Given the description of an element on the screen output the (x, y) to click on. 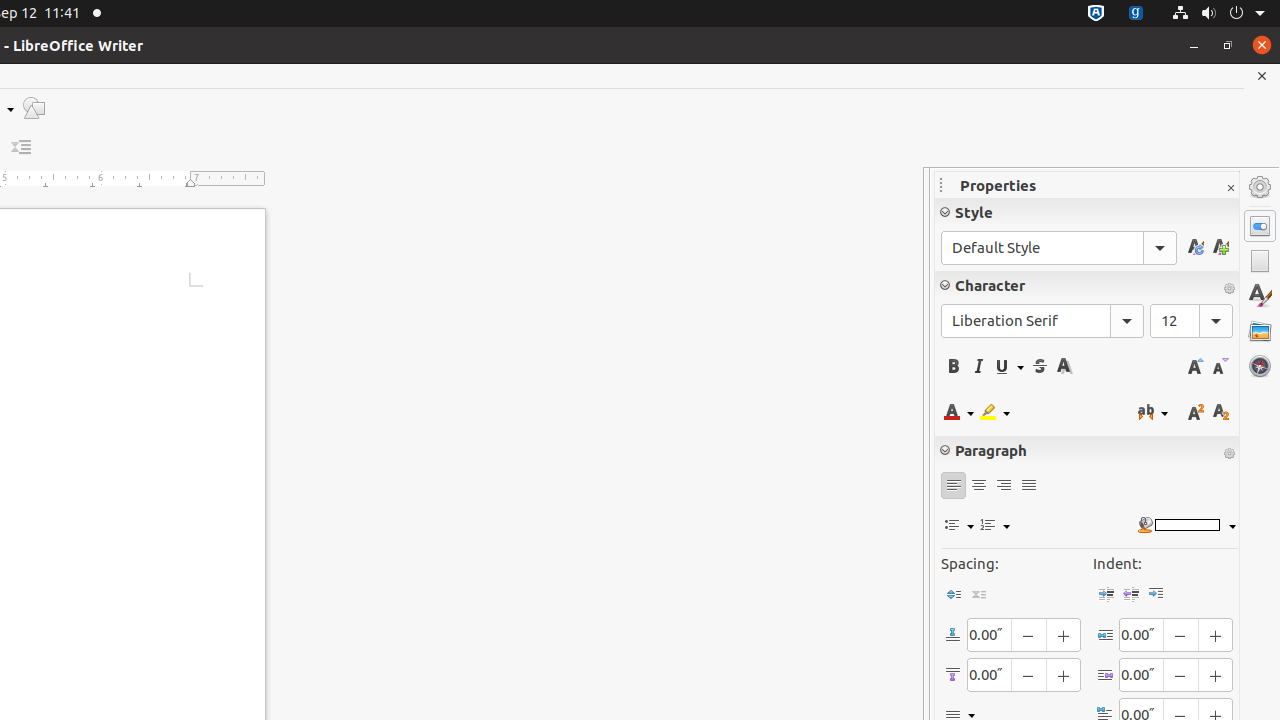
Gallery Element type: radio-button (1260, 331)
Navigator Element type: radio-button (1260, 366)
Shadow Element type: toggle-button (1064, 366)
Background Color Element type: push-button (1186, 525)
Styles Element type: radio-button (1260, 296)
